Given the description of an element on the screen output the (x, y) to click on. 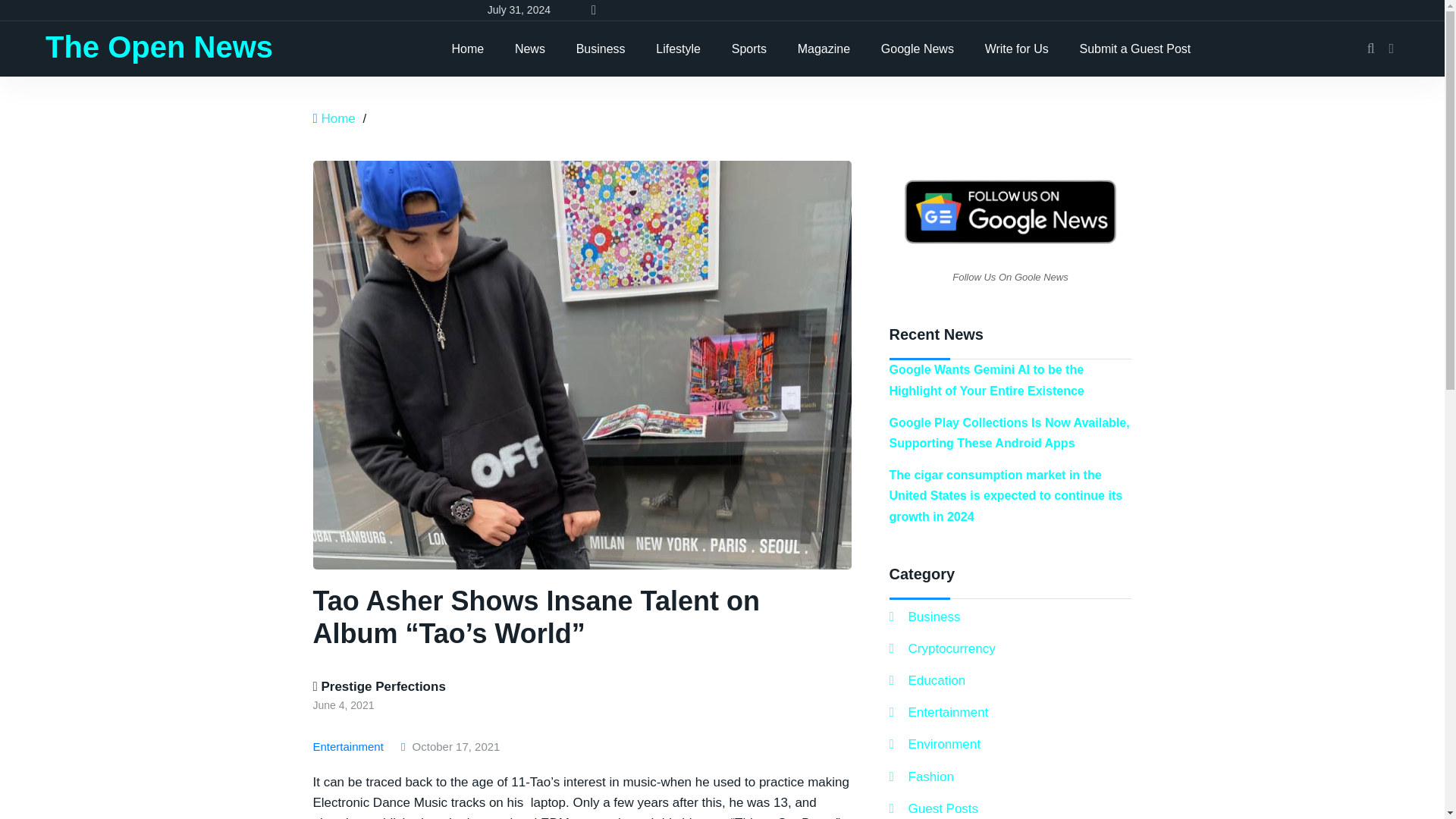
Business (600, 49)
Environment (933, 743)
Fashion (920, 776)
Magazine (823, 49)
Entertainment (938, 711)
Education (926, 680)
Cryptocurrency (941, 648)
News (529, 49)
Business (923, 616)
Write for Us (1016, 49)
Home (467, 49)
The Open News (159, 46)
